Given the description of an element on the screen output the (x, y) to click on. 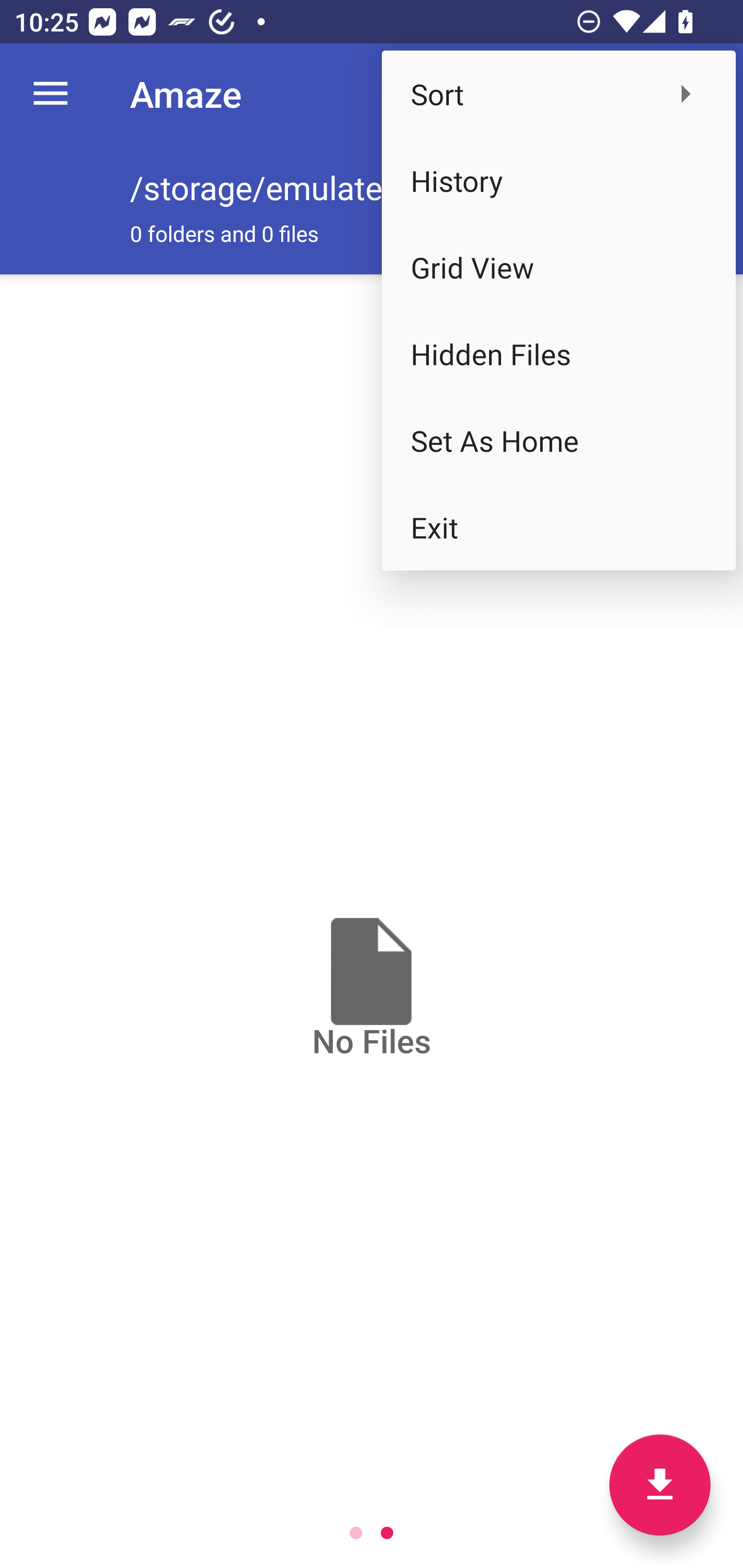
Sort (558, 93)
History (558, 180)
Grid View (558, 267)
Hidden Files (558, 353)
Set As Home (558, 440)
Exit (558, 527)
